Given the description of an element on the screen output the (x, y) to click on. 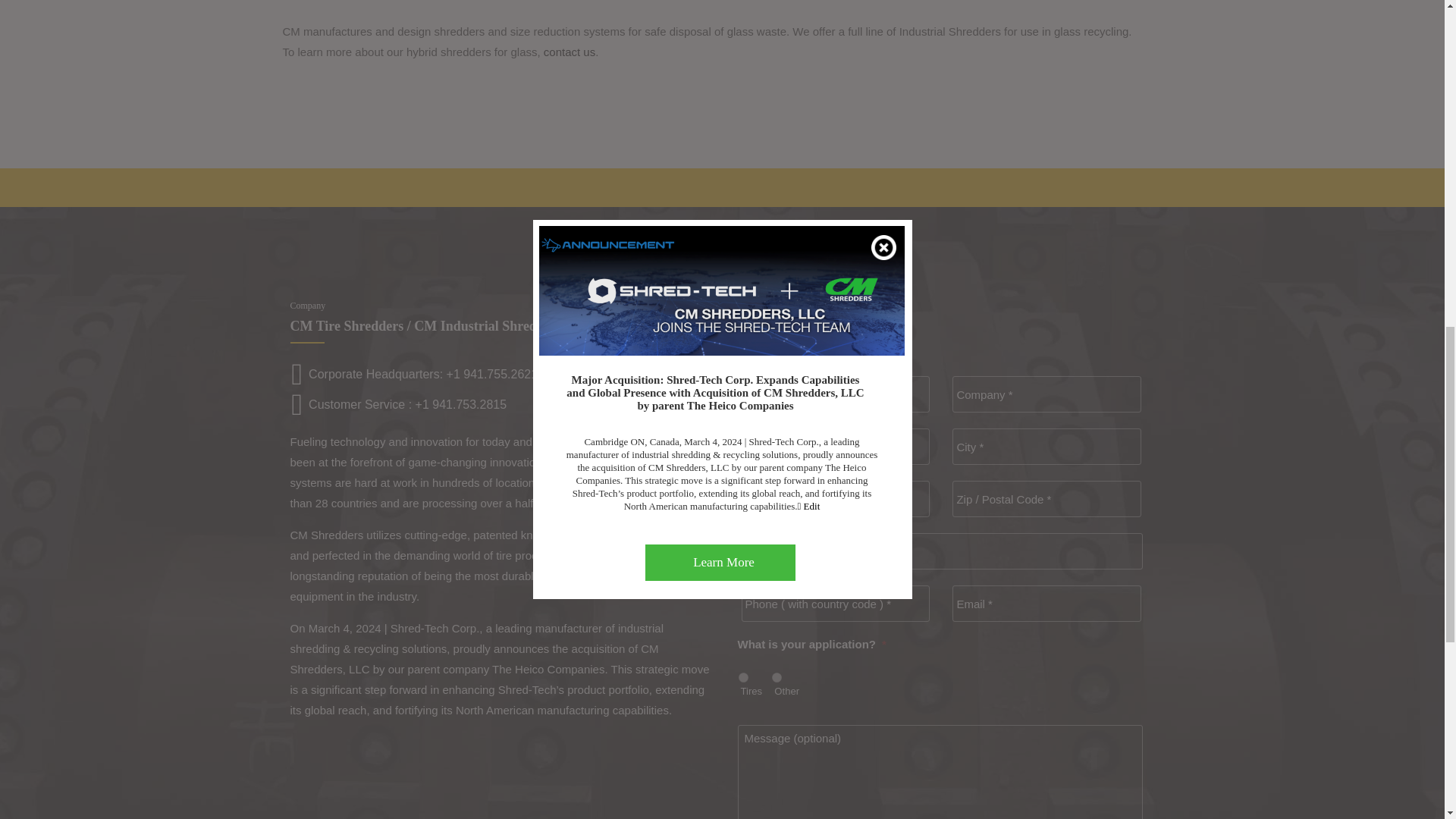
Other (776, 677)
Tires (743, 677)
